Given the description of an element on the screen output the (x, y) to click on. 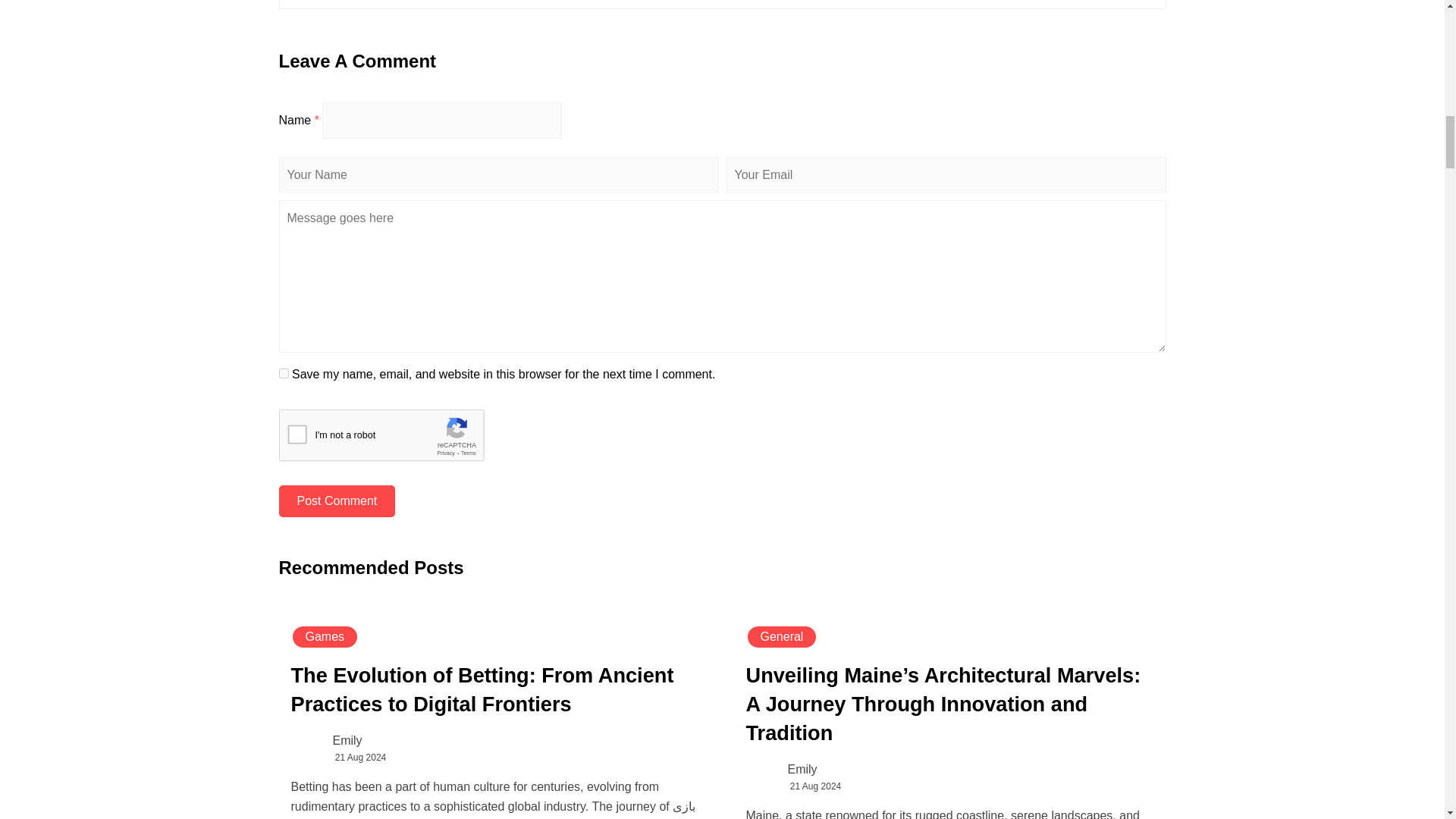
yes (283, 373)
Post Comment (337, 500)
21 Aug 2024 (815, 786)
21 Aug 2024 (359, 757)
General (781, 636)
reCAPTCHA (394, 438)
Games (325, 636)
